Given the description of an element on the screen output the (x, y) to click on. 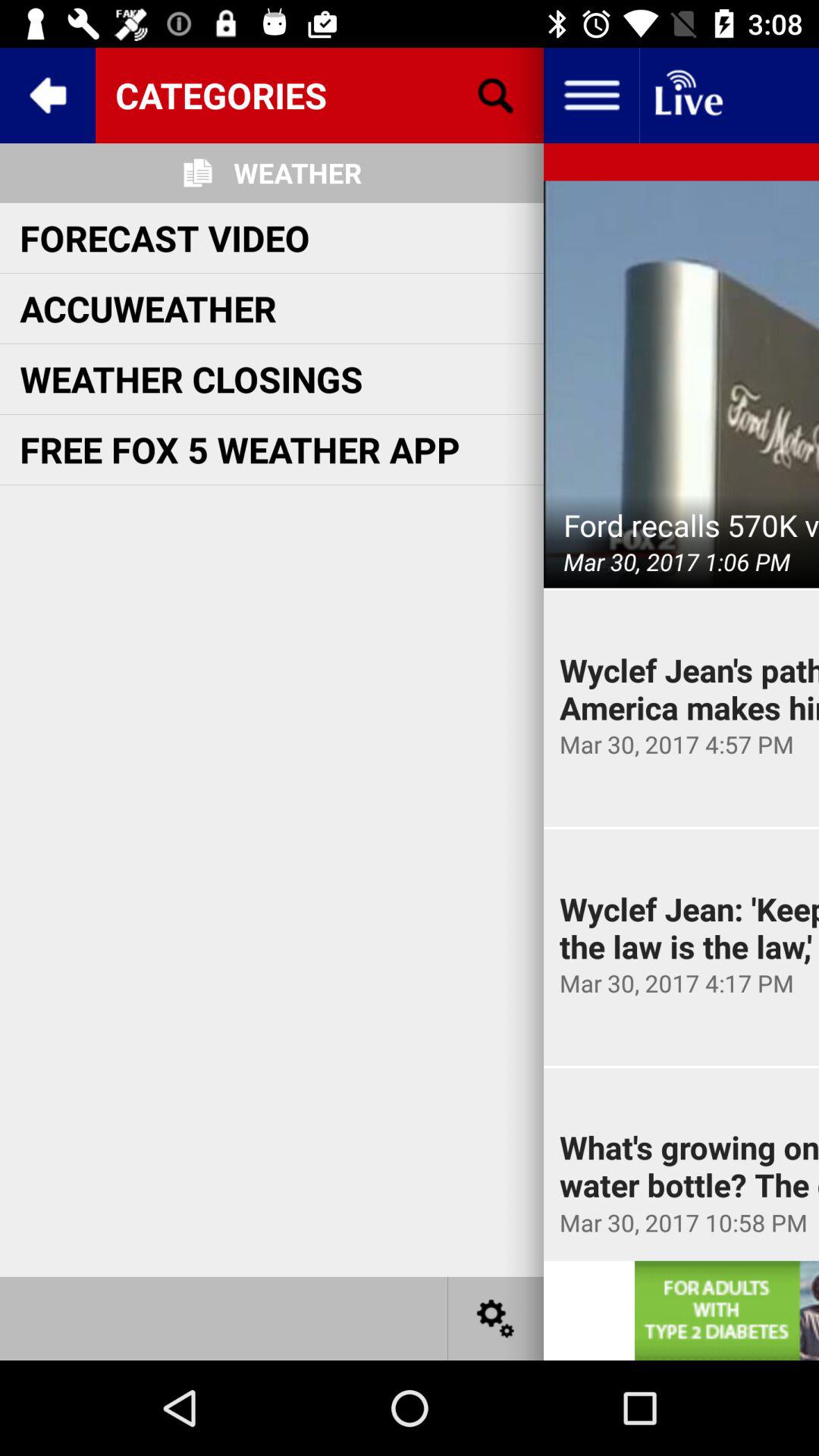
click to return (47, 95)
